Given the description of an element on the screen output the (x, y) to click on. 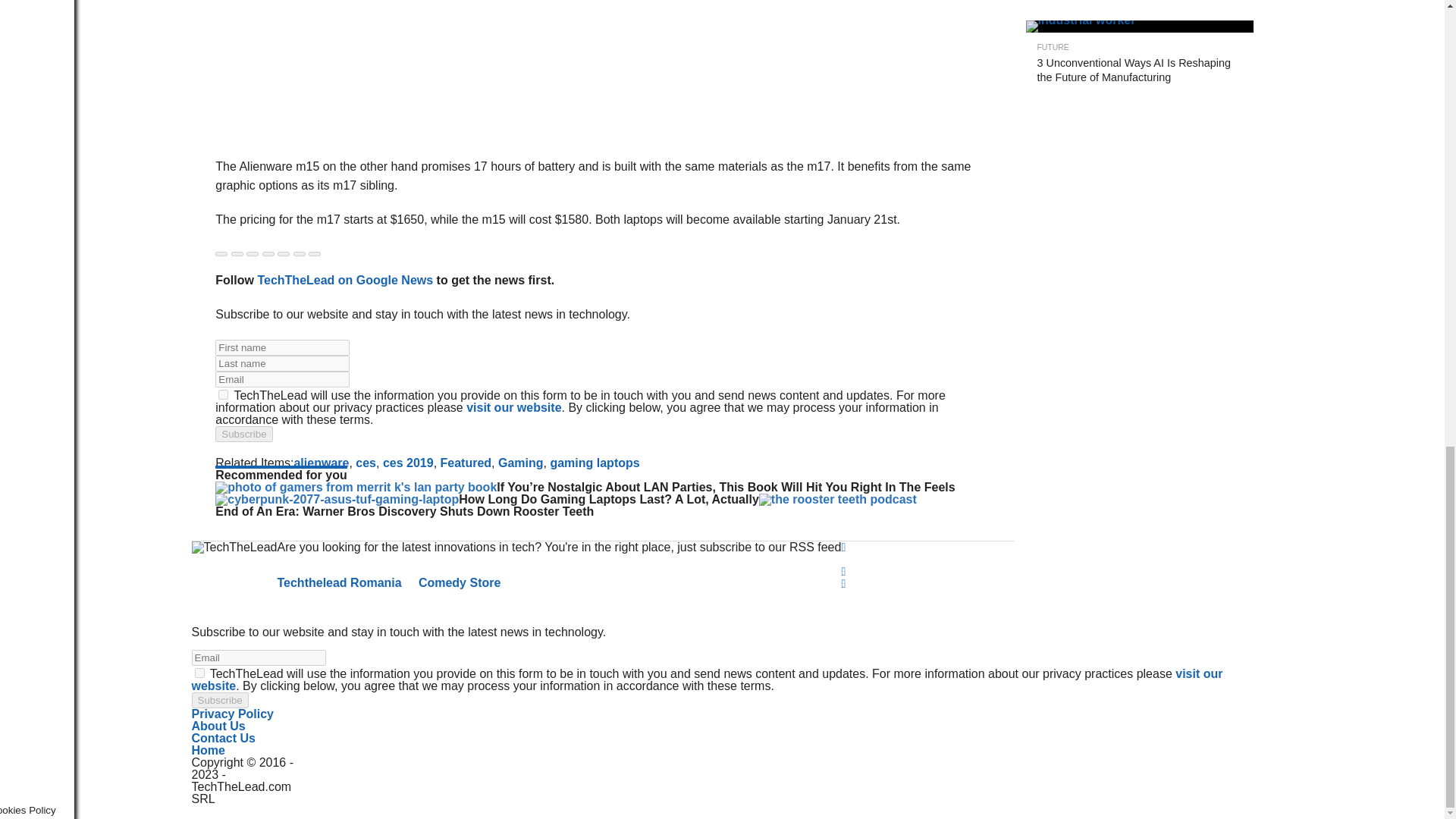
How Long Do Gaming Laptops Last? A Lot, Actually (336, 499)
Subscribe (243, 433)
Subscribe (218, 700)
1 (198, 673)
1 (223, 394)
